Given the description of an element on the screen output the (x, y) to click on. 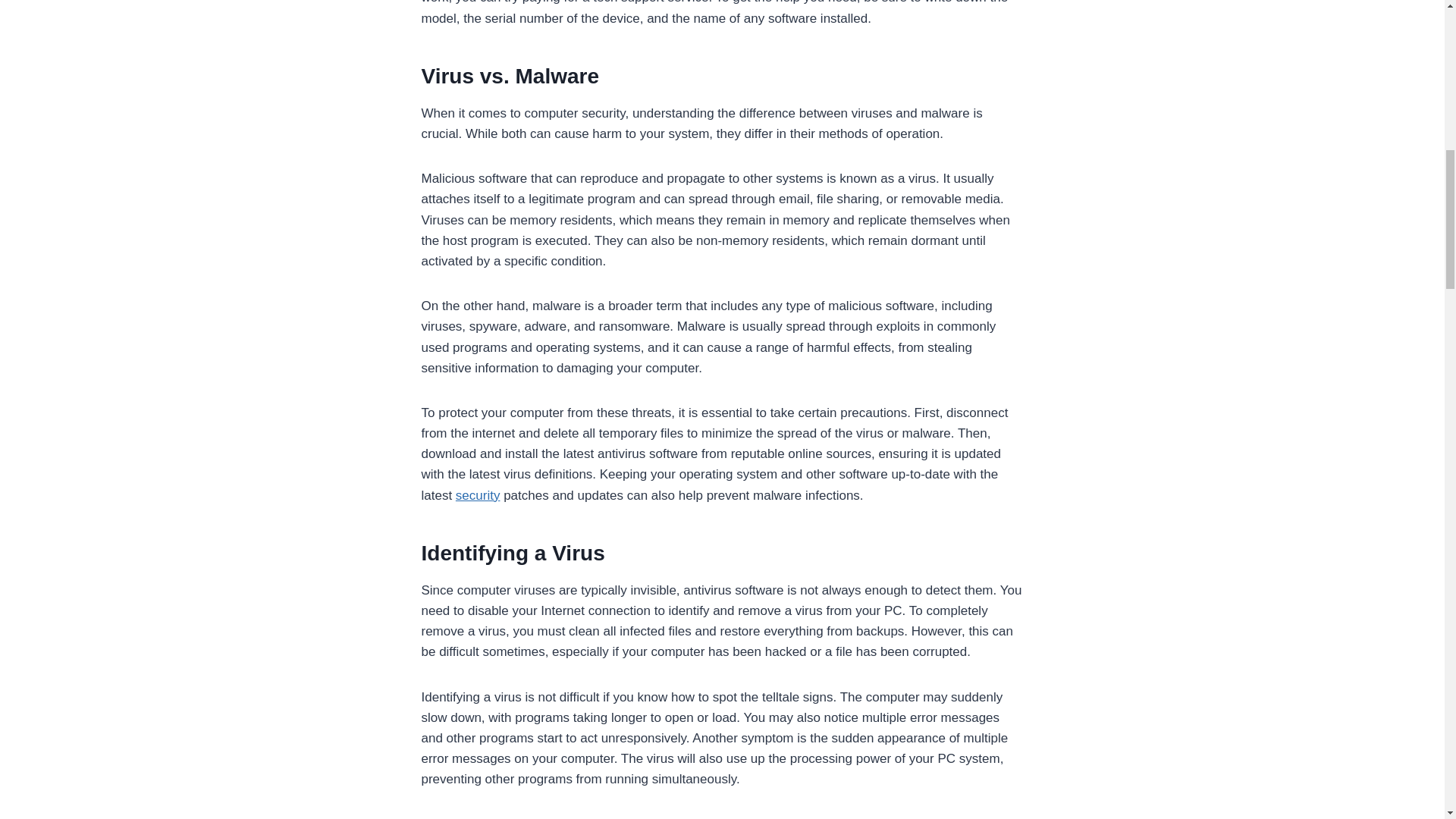
security (477, 495)
